Given the description of an element on the screen output the (x, y) to click on. 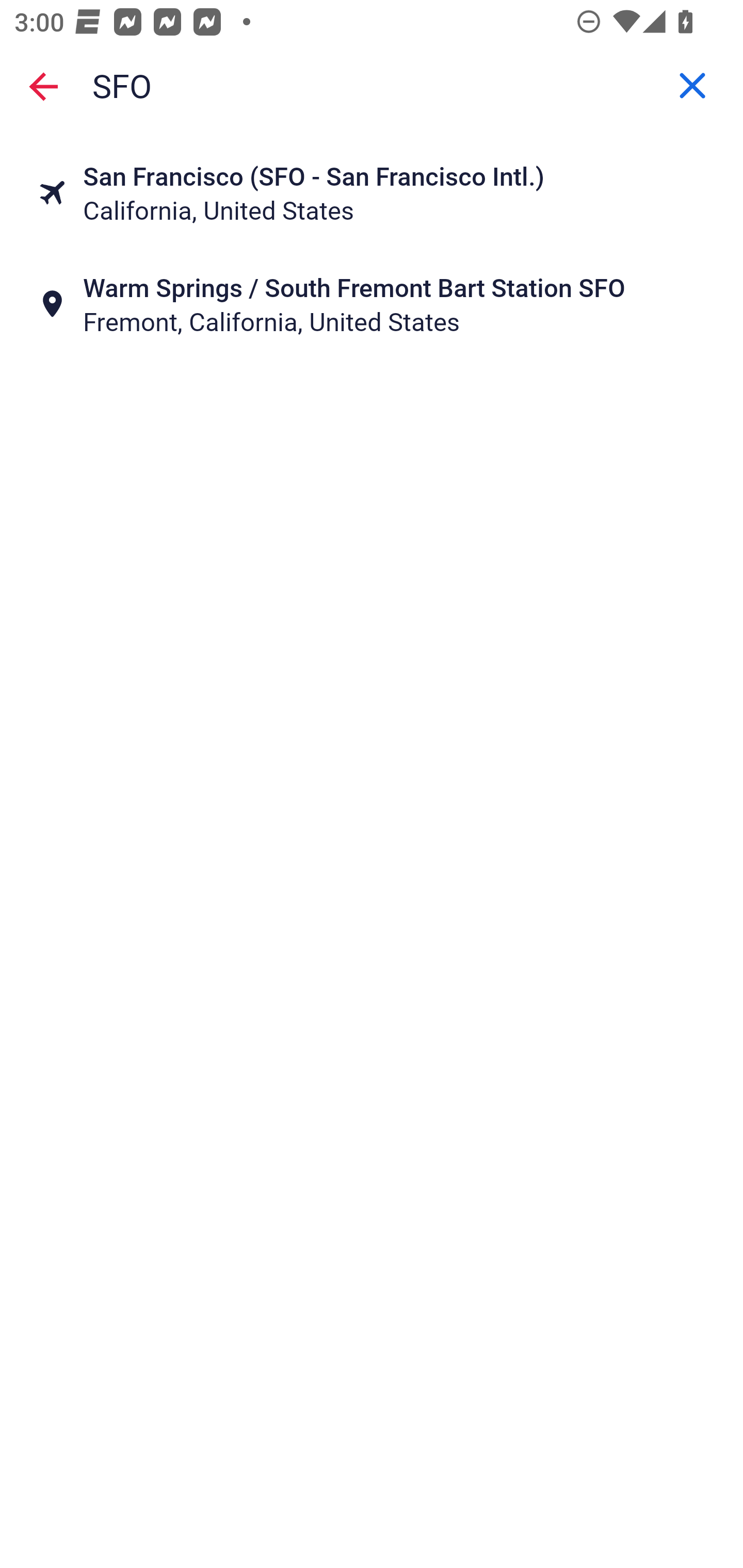
Clear Drop-off (692, 85)
Drop-off, SFO (371, 85)
Close search screen (43, 86)
